Given the description of an element on the screen output the (x, y) to click on. 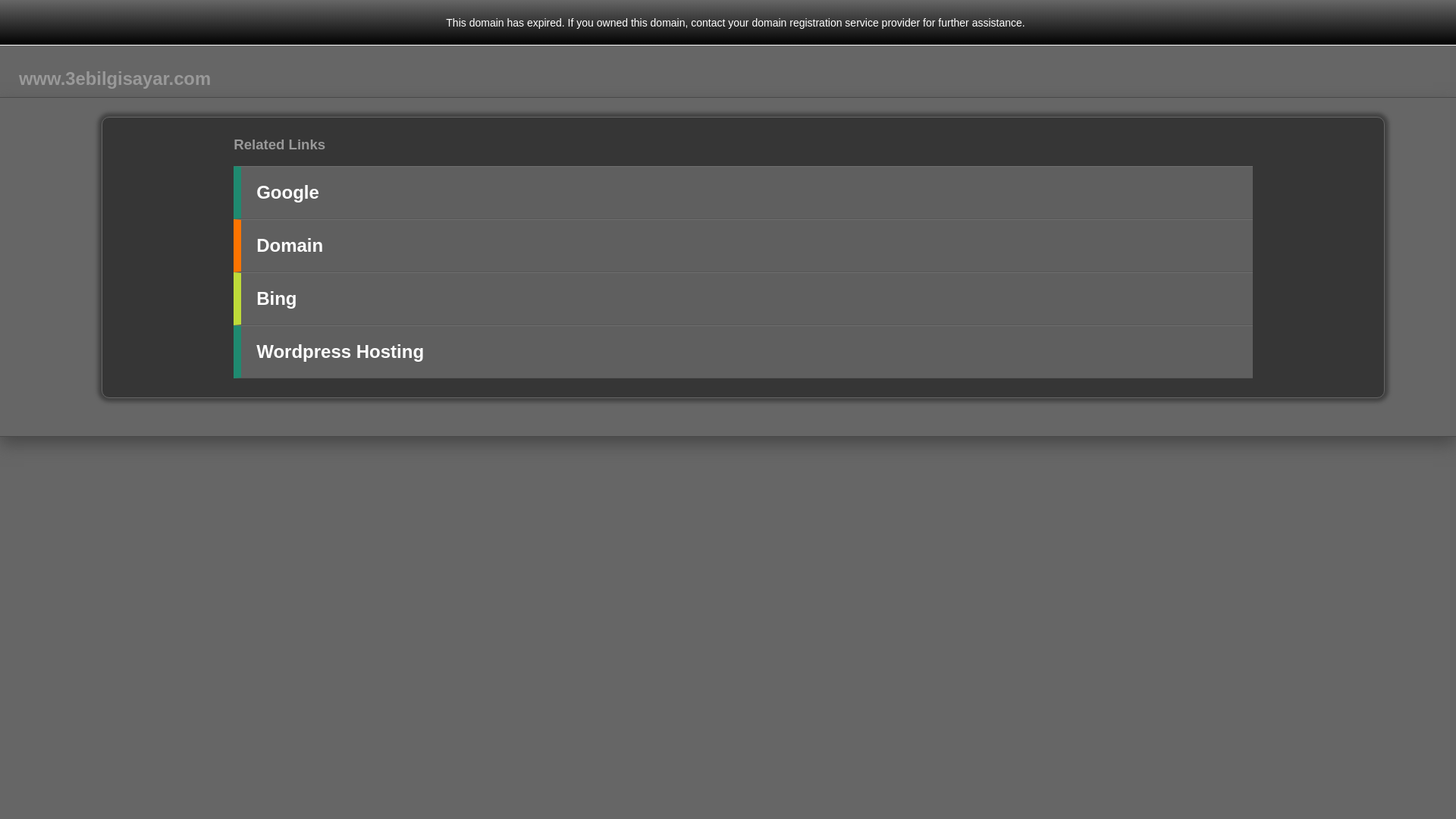
Bing Element type: text (742, 298)
Wordpress Hosting Element type: text (742, 351)
Domain Element type: text (742, 245)
Related Links Element type: text (279, 144)
Google Element type: text (742, 192)
